Given the description of an element on the screen output the (x, y) to click on. 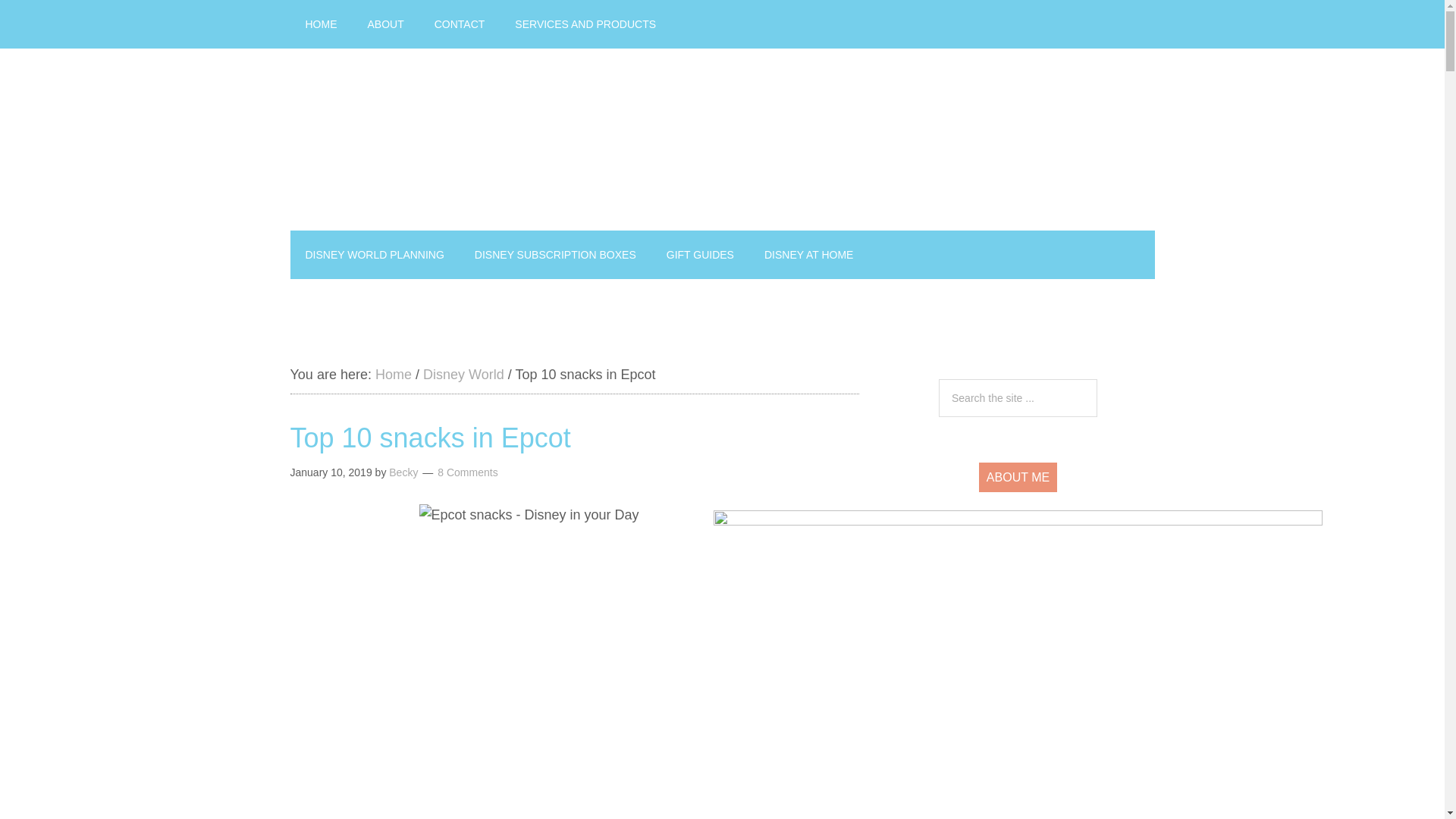
Home (393, 374)
Becky (402, 472)
DISNEY AT HOME (808, 254)
DISNEY SUBSCRIPTION BOXES (555, 254)
ABOUT (385, 24)
HOME (320, 24)
DISNEY WORLD PLANNING (373, 254)
Disney World (463, 374)
GIFT GUIDES (699, 254)
Disney in your Day (721, 139)
CONTACT (459, 24)
8 Comments (467, 472)
SERVICES AND PRODUCTS (585, 24)
